Given the description of an element on the screen output the (x, y) to click on. 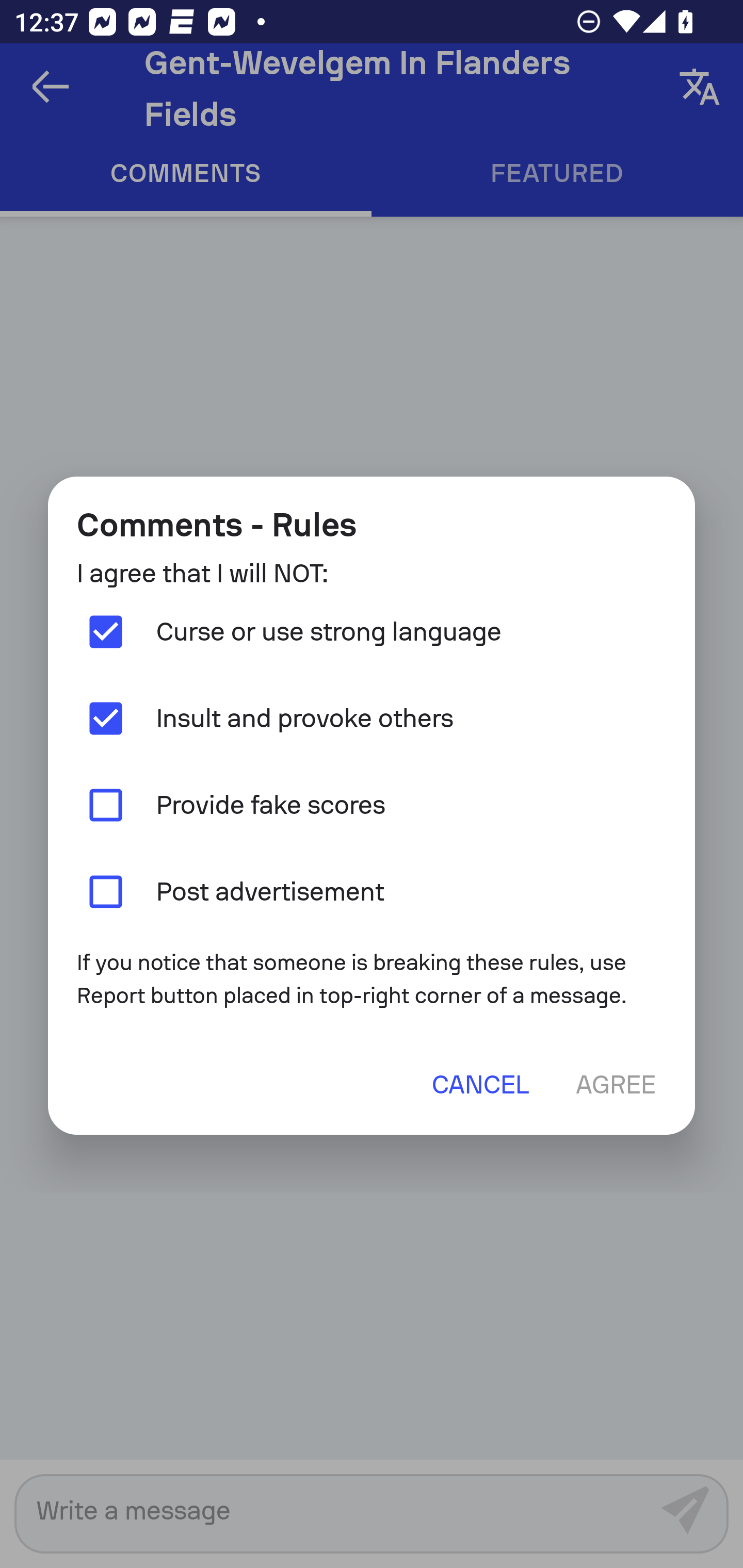
Curse or use strong language (371, 631)
Insult and provoke others (371, 718)
Provide fake scores (371, 805)
Post advertisement (371, 891)
CANCEL (479, 1084)
AGREE (615, 1084)
